Given the description of an element on the screen output the (x, y) to click on. 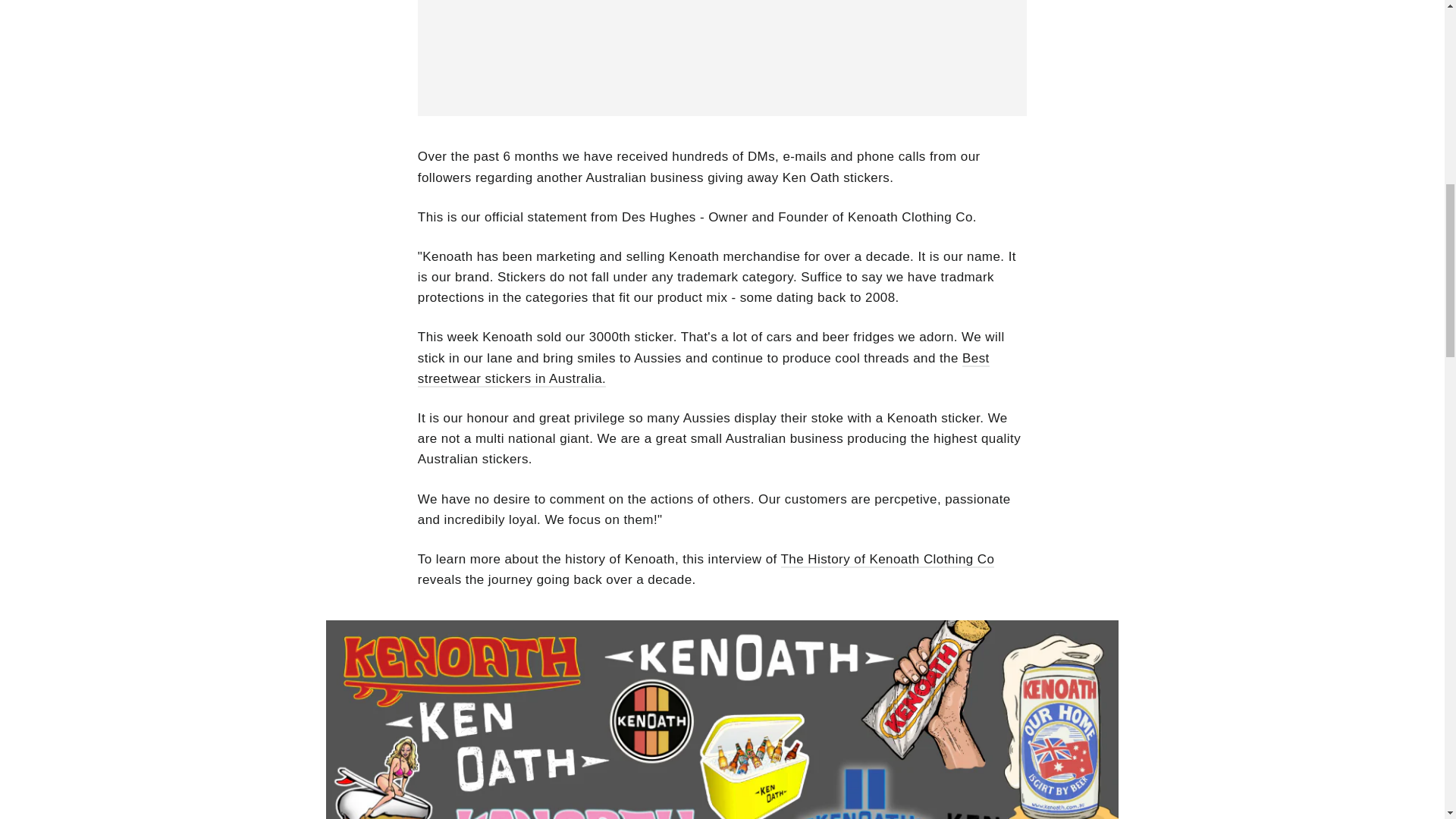
About Kenoath and the Ken Oath journey (887, 560)
Best Australian made stickers (703, 369)
